Given the description of an element on the screen output the (x, y) to click on. 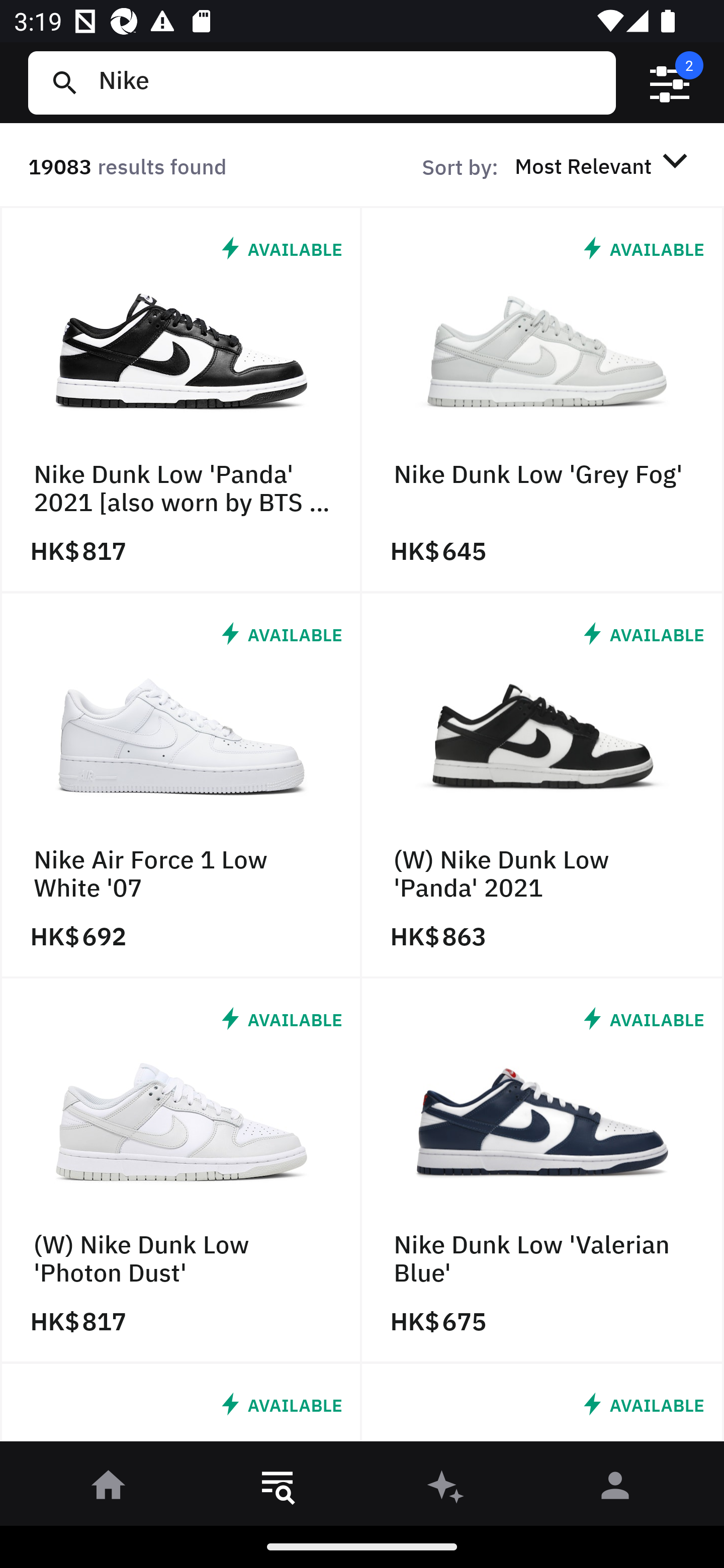
Nike (349, 82)
 (669, 82)
Most Relevant  (604, 165)
 AVAILABLE Nike Dunk Low 'Grey Fog' HK$ 645 (543, 399)
 AVAILABLE Nike Air Force 1 Low White '07 HK$ 692 (181, 785)
 AVAILABLE (W) Nike Dunk Low 'Panda' 2021 HK$ 863 (543, 785)
 AVAILABLE Nike Dunk Low 'Valerian Blue' HK$ 675 (543, 1171)
󰋜 (108, 1488)
󱎸 (277, 1488)
󰫢 (446, 1488)
󰀄 (615, 1488)
